Given the description of an element on the screen output the (x, y) to click on. 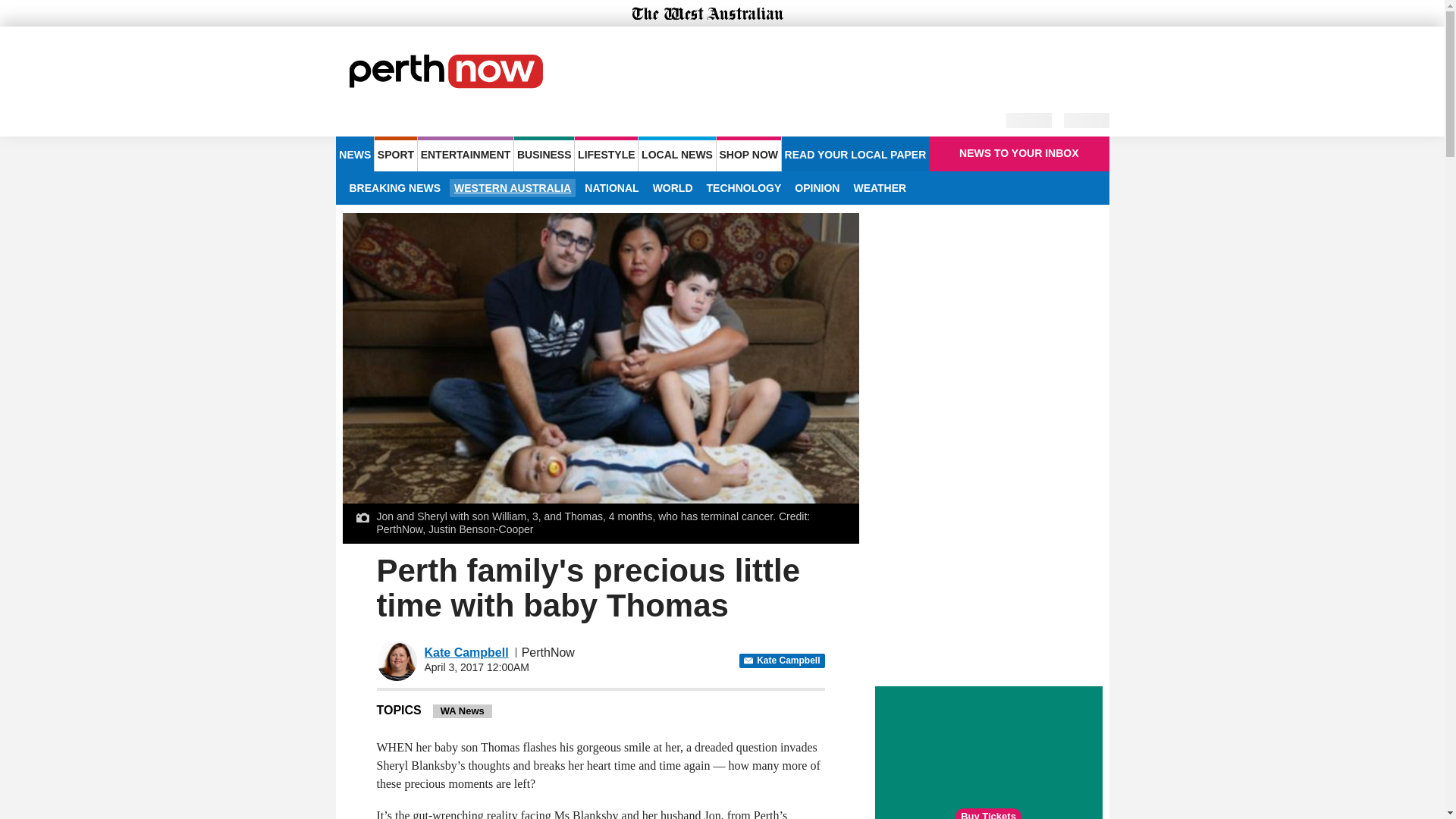
NEWS (354, 153)
BUSINESS (543, 153)
ENTERTAINMENT (465, 153)
SPORT (395, 153)
